Given the description of an element on the screen output the (x, y) to click on. 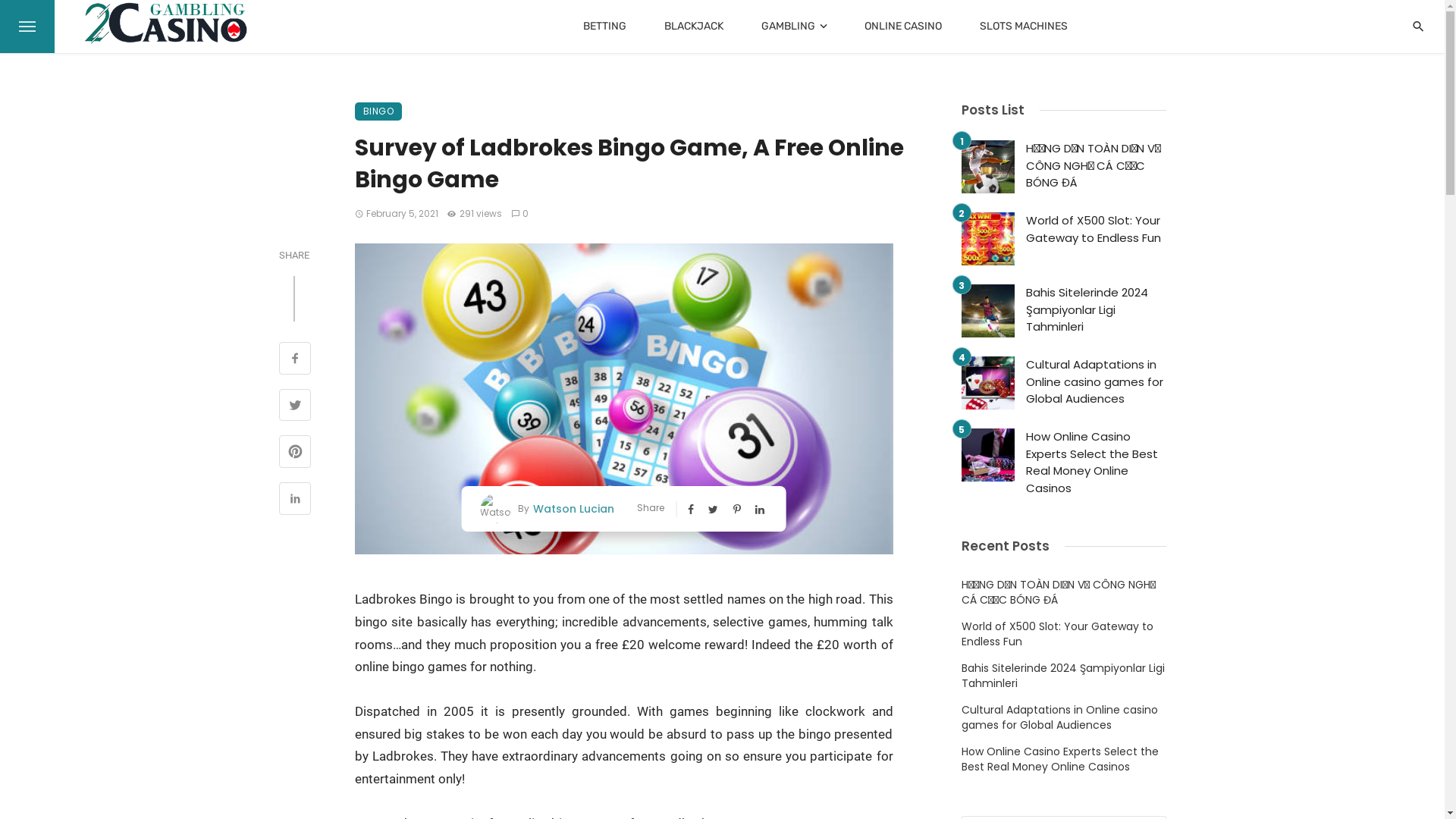
GAMBLING Element type: text (793, 26)
ONLINE CASINO Element type: text (902, 26)
Share on Twitter Element type: hover (295, 407)
BINGO Element type: text (378, 111)
SLOTS MACHINES Element type: text (1023, 26)
Share on Facebook Element type: hover (295, 360)
Watson Lucian Element type: text (571, 508)
BETTING Element type: text (604, 26)
World of X500 Slot: Your Gateway to Endless Fun Element type: text (1063, 633)
World of X500 Slot: Your Gateway to Endless Fun Element type: text (1095, 229)
Share on Linkedin Element type: hover (295, 500)
BLACKJACK Element type: text (693, 26)
0 Element type: text (520, 213)
Share on Pinterest Element type: hover (295, 453)
